Given the description of an element on the screen output the (x, y) to click on. 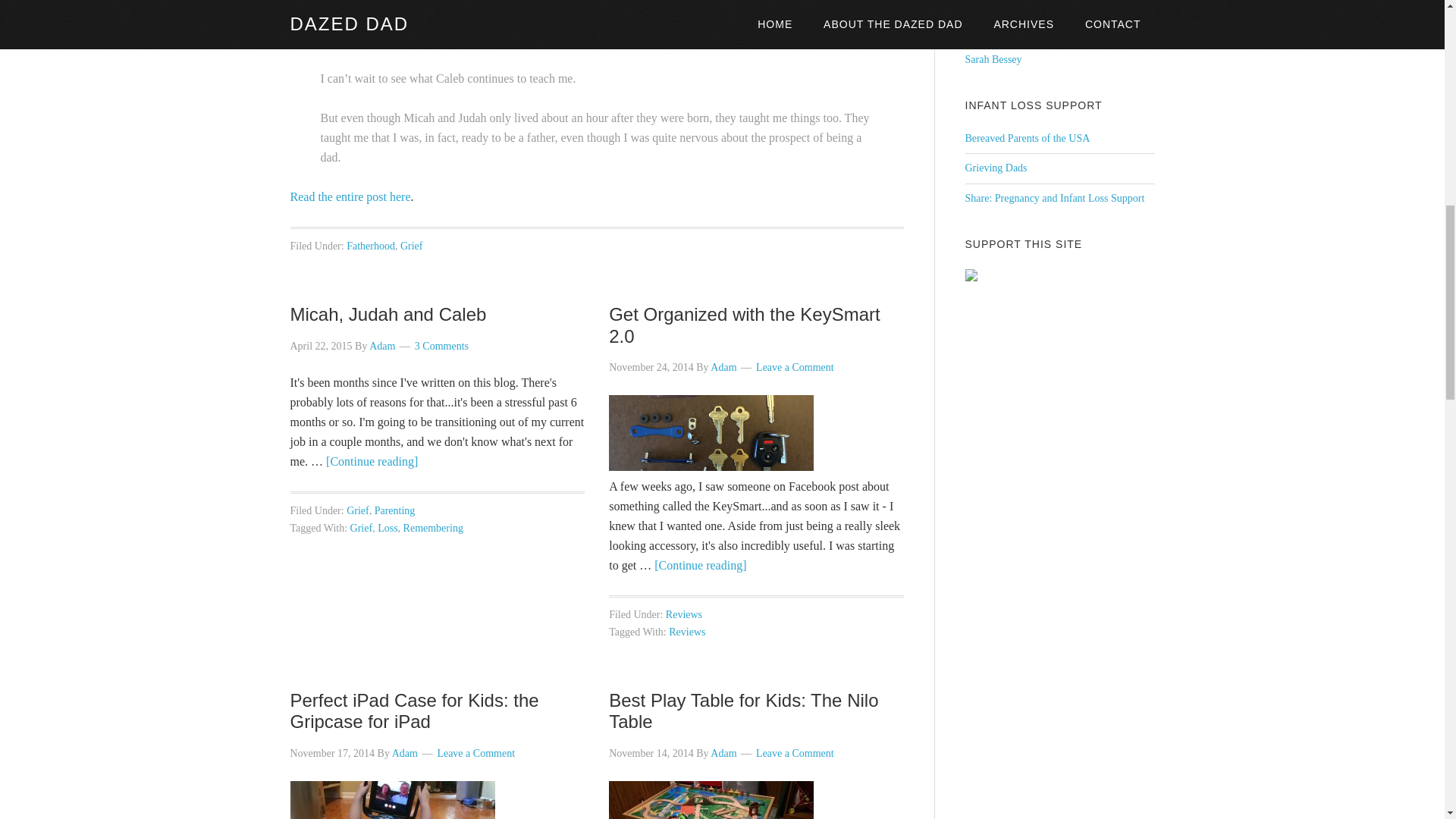
Get Organized with the KeySmart 2.0 (744, 324)
Best Play Table for Kids: The Nilo Table (742, 711)
Grief (357, 510)
Leave a Comment (475, 753)
Grief (411, 245)
Leave a Comment (794, 753)
Reviews (683, 614)
Reviews (686, 632)
Perfect iPad Case for Kids: the Gripcase for iPad (413, 711)
Adam (723, 753)
